Given the description of an element on the screen output the (x, y) to click on. 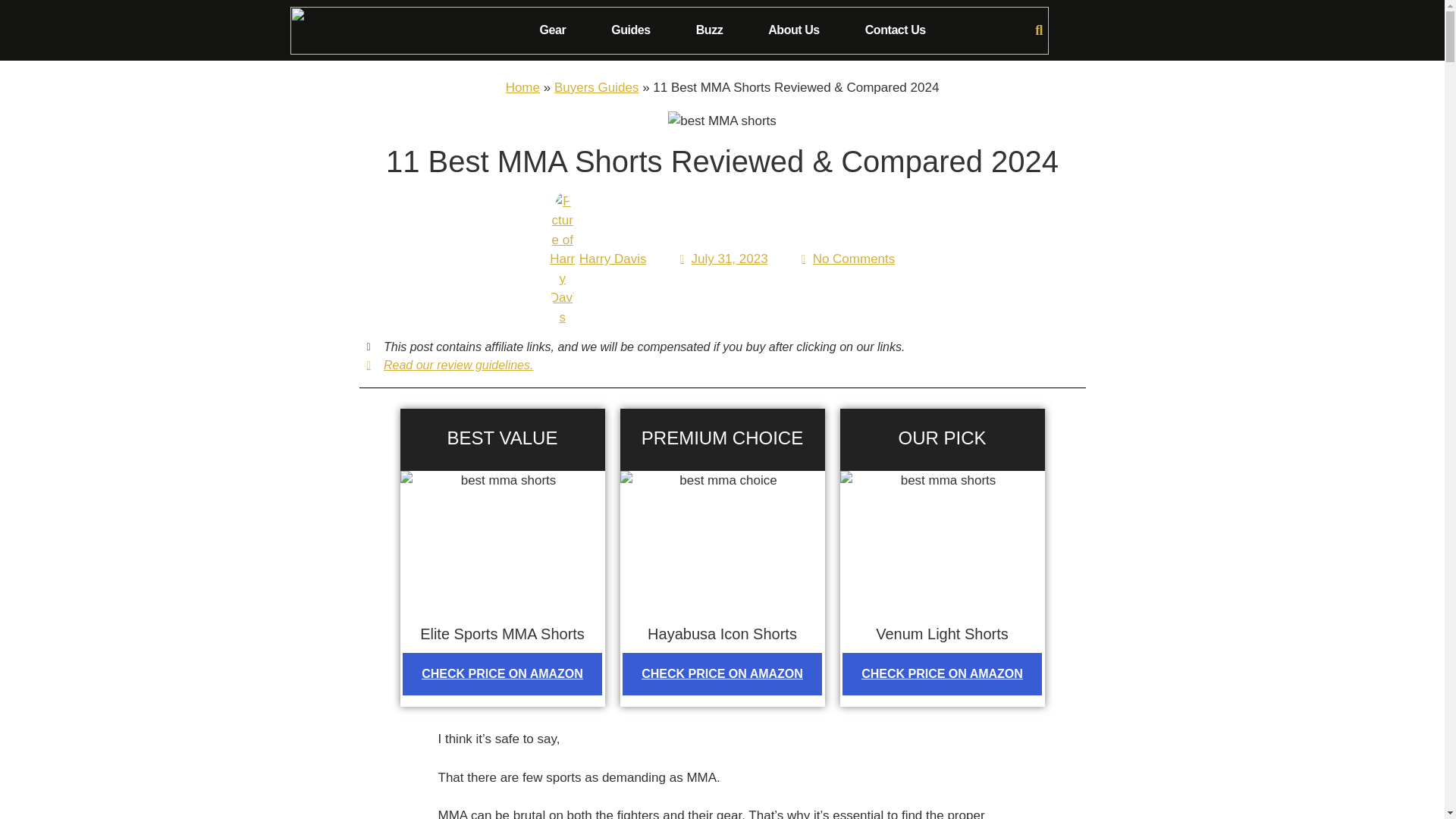
CHECK PRICE ON AMAZON (502, 673)
Buyers Guides (596, 87)
CHECK PRICE ON AMAZON (722, 673)
Home (522, 87)
July 31, 2023 (722, 259)
Contact Us (895, 30)
About Us (793, 30)
Guides (631, 30)
Buzz (709, 30)
No Comments (846, 259)
